Given the description of an element on the screen output the (x, y) to click on. 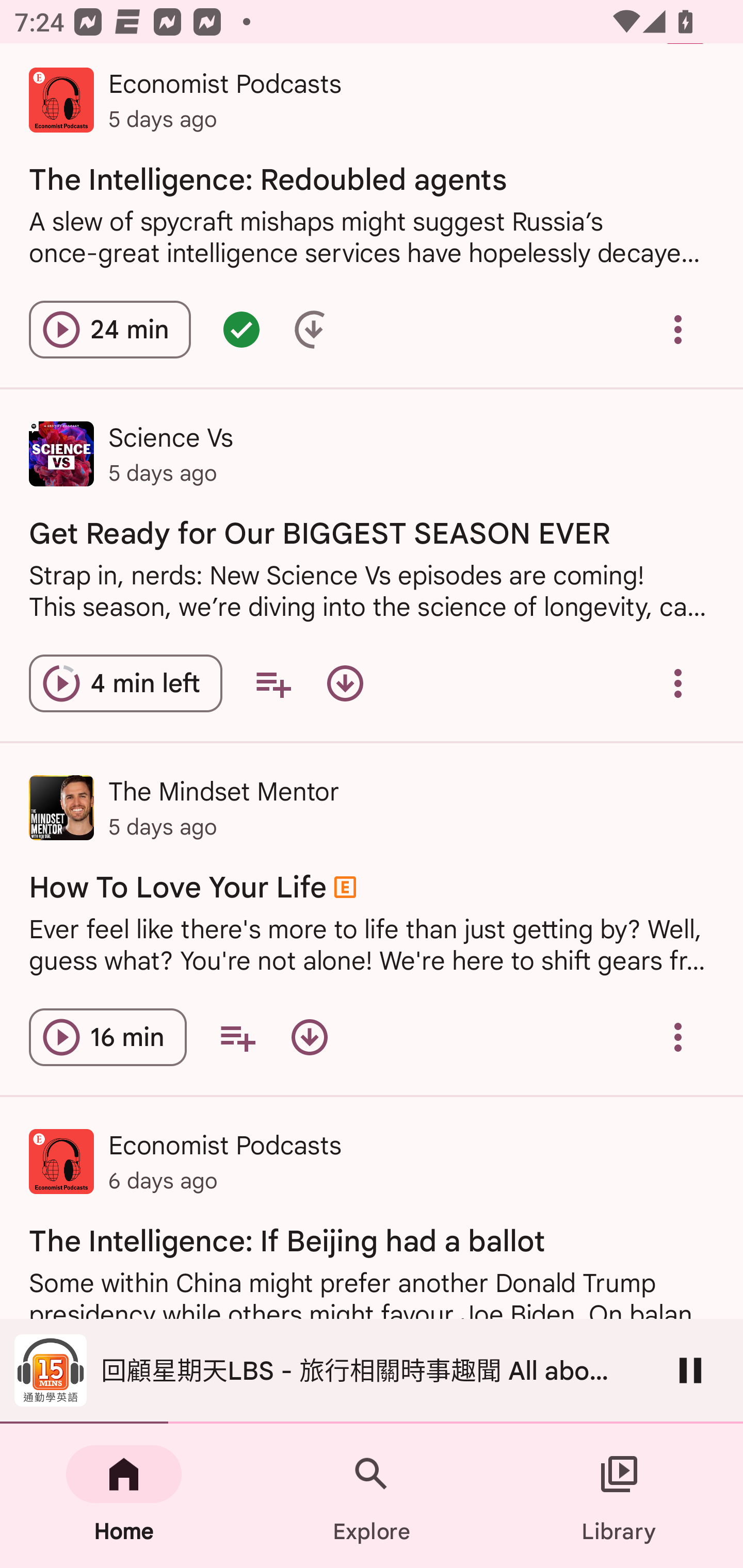
Episode queued - double tap for options (241, 329)
Queued to download - double tap for options (313, 329)
Overflow menu (677, 329)
Add to your queue (273, 682)
Download episode (345, 682)
Overflow menu (677, 682)
Play episode How To Love Your Life 16 min (107, 1037)
Add to your queue (237, 1037)
Download episode (309, 1037)
Overflow menu (677, 1037)
Pause (690, 1370)
Explore (371, 1495)
Library (619, 1495)
